Given the description of an element on the screen output the (x, y) to click on. 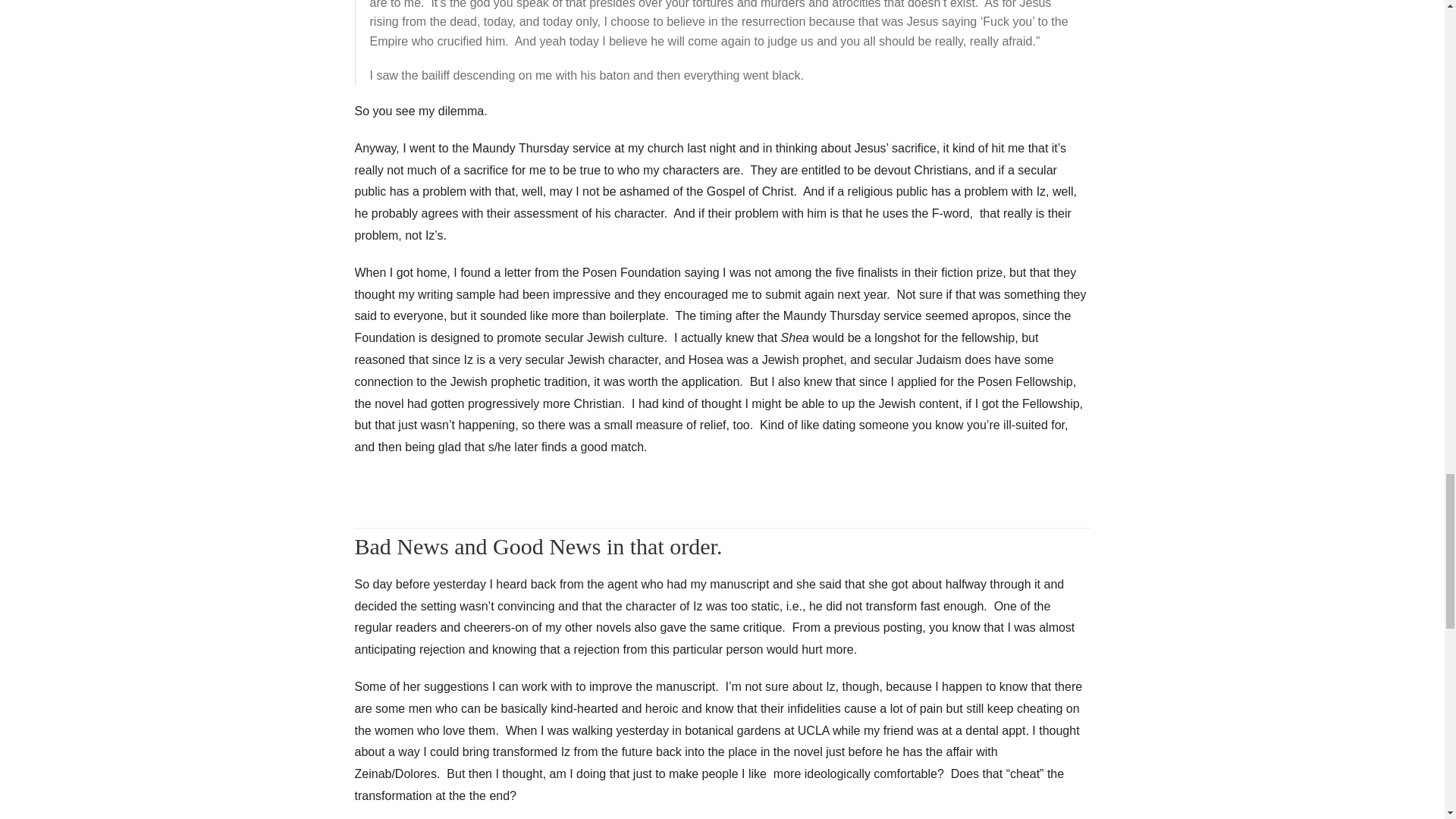
Permalink to Bad News and Good News in that order. (538, 545)
Bad News and Good News in that order. (538, 545)
